Given the description of an element on the screen output the (x, y) to click on. 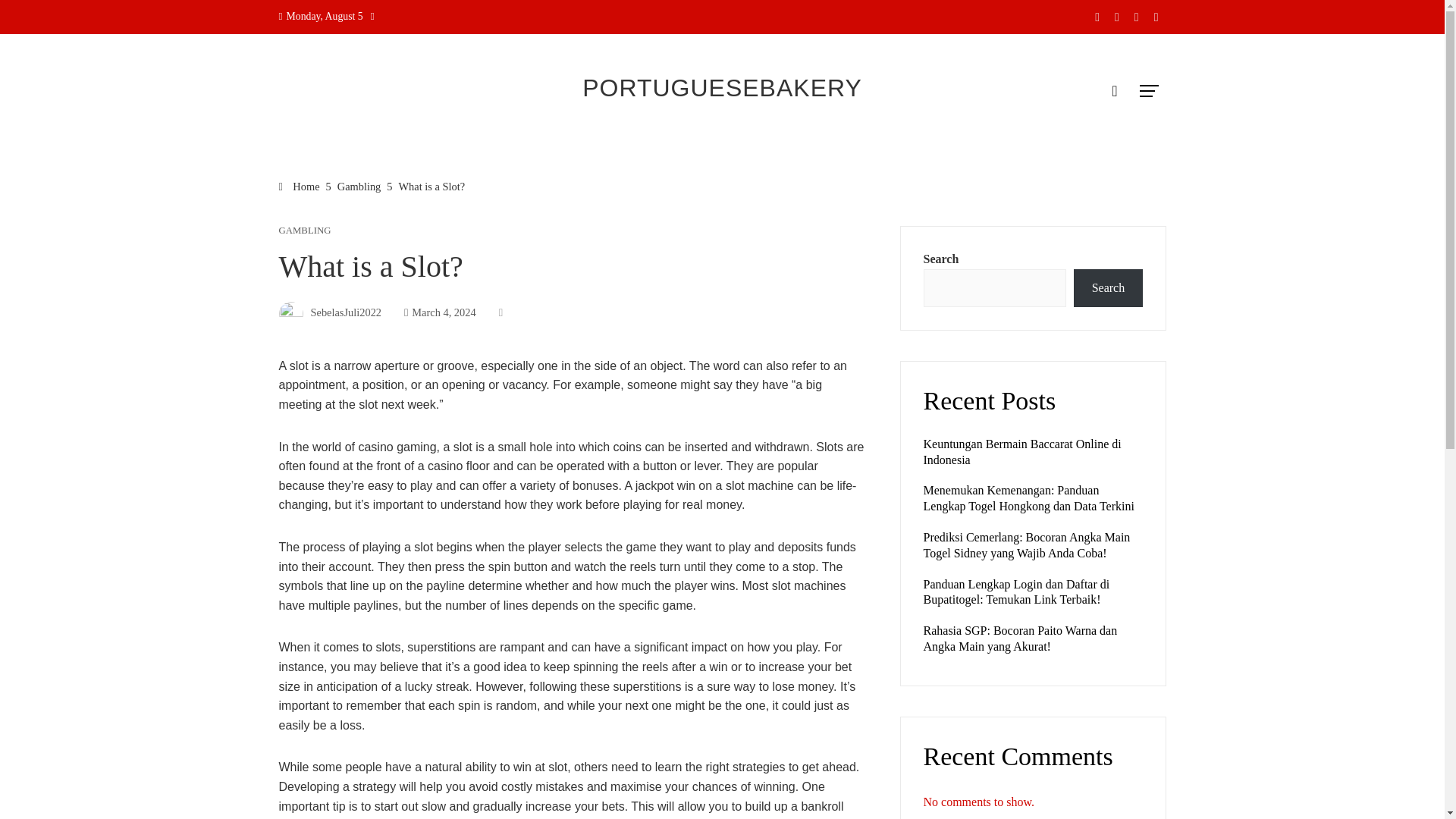
Search (1107, 288)
Home (299, 186)
Rahasia SGP: Bocoran Paito Warna dan Angka Main yang Akurat! (1020, 638)
Keuntungan Bermain Baccarat Online di Indonesia (1022, 451)
GAMBLING (305, 230)
PORTUGUESEBAKERY (721, 87)
Gambling (359, 186)
